Given the description of an element on the screen output the (x, y) to click on. 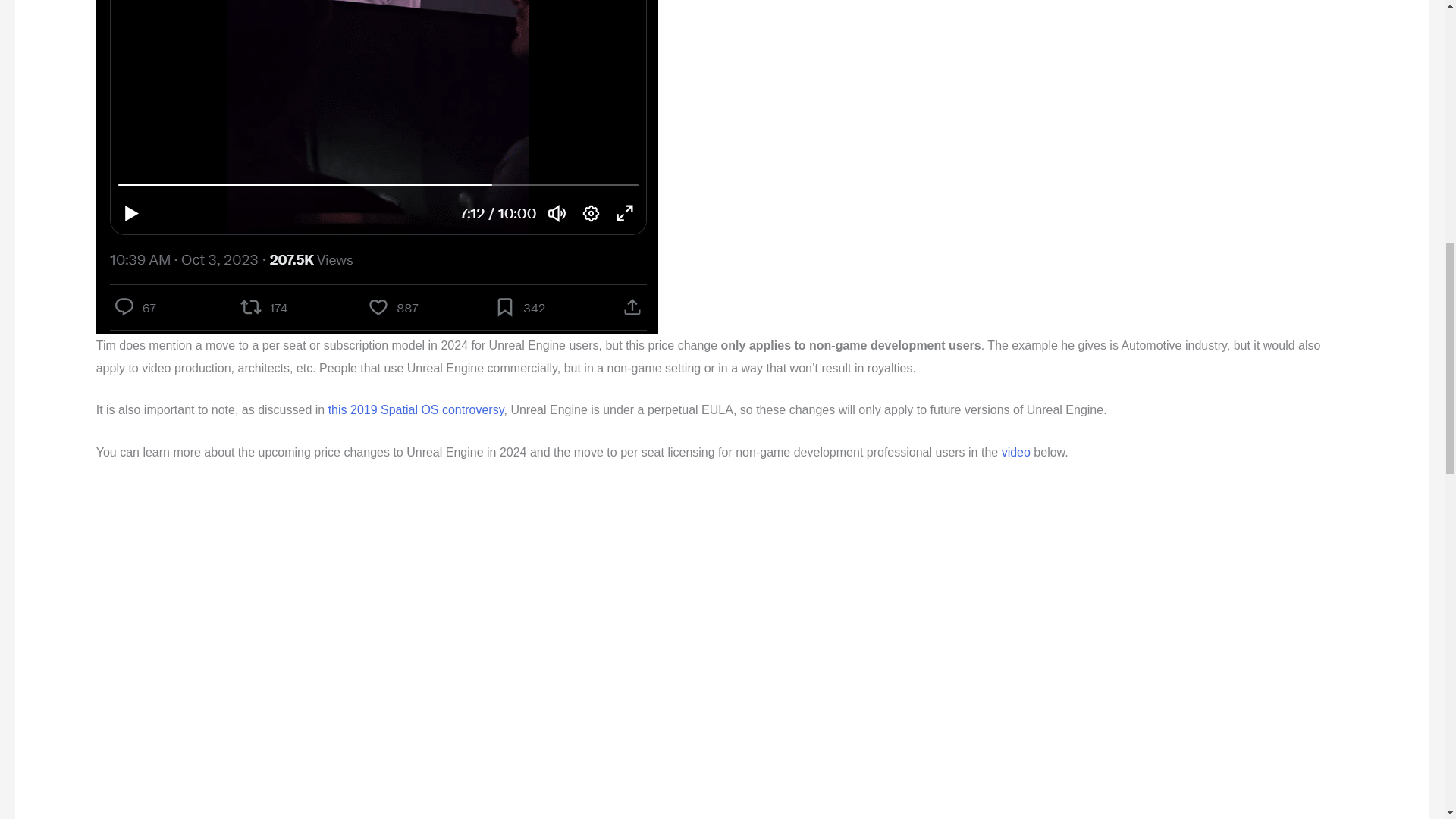
video (1017, 451)
this 2019 Spatial OS controversy (416, 409)
